Given the description of an element on the screen output the (x, y) to click on. 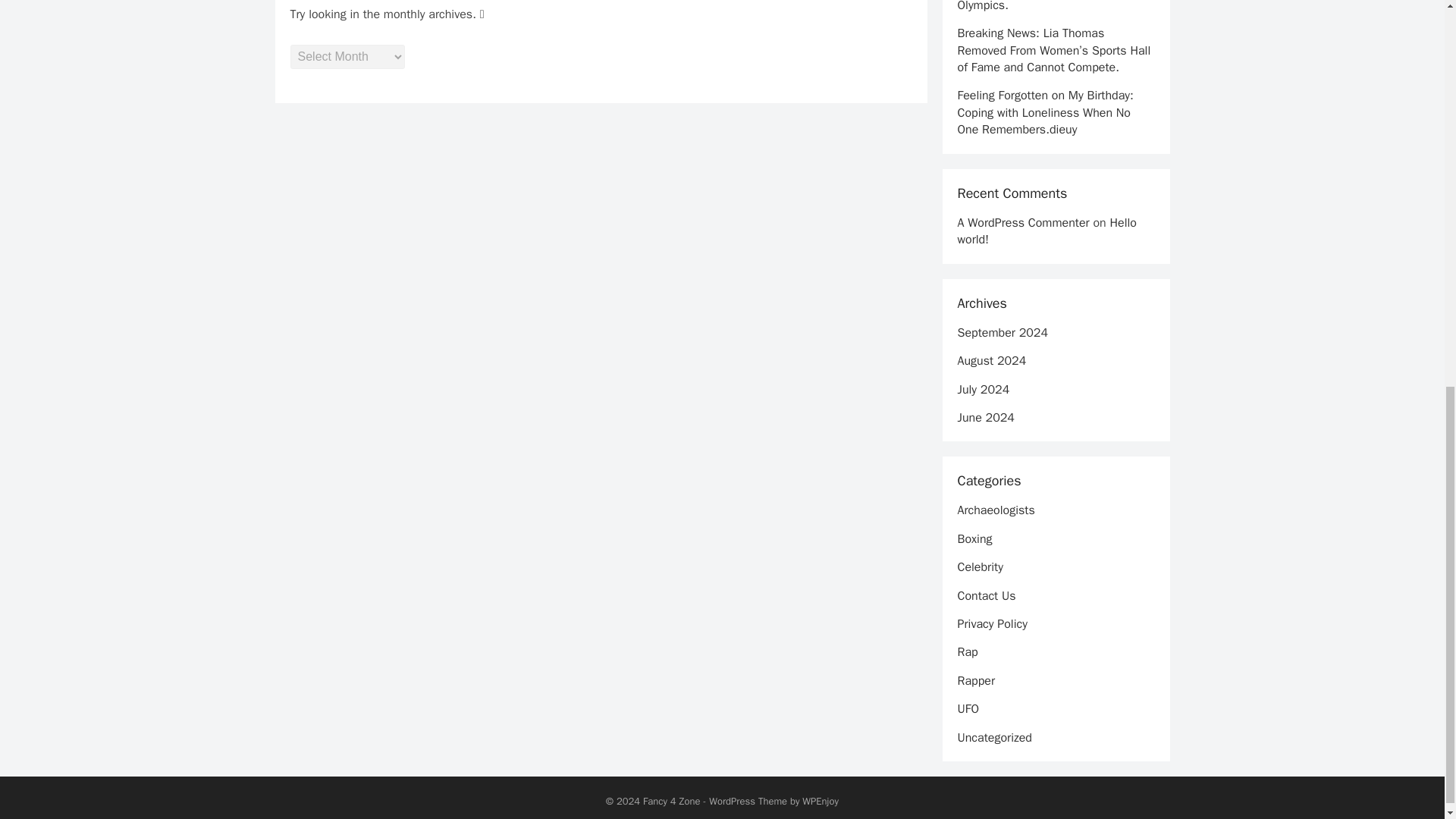
Privacy Policy (991, 623)
August 2024 (991, 360)
Uncategorized (993, 737)
Contact Us (985, 595)
Rapper (975, 680)
September 2024 (1002, 332)
Archaeologists (994, 509)
UFO (967, 708)
June 2024 (984, 417)
July 2024 (982, 388)
